Given the description of an element on the screen output the (x, y) to click on. 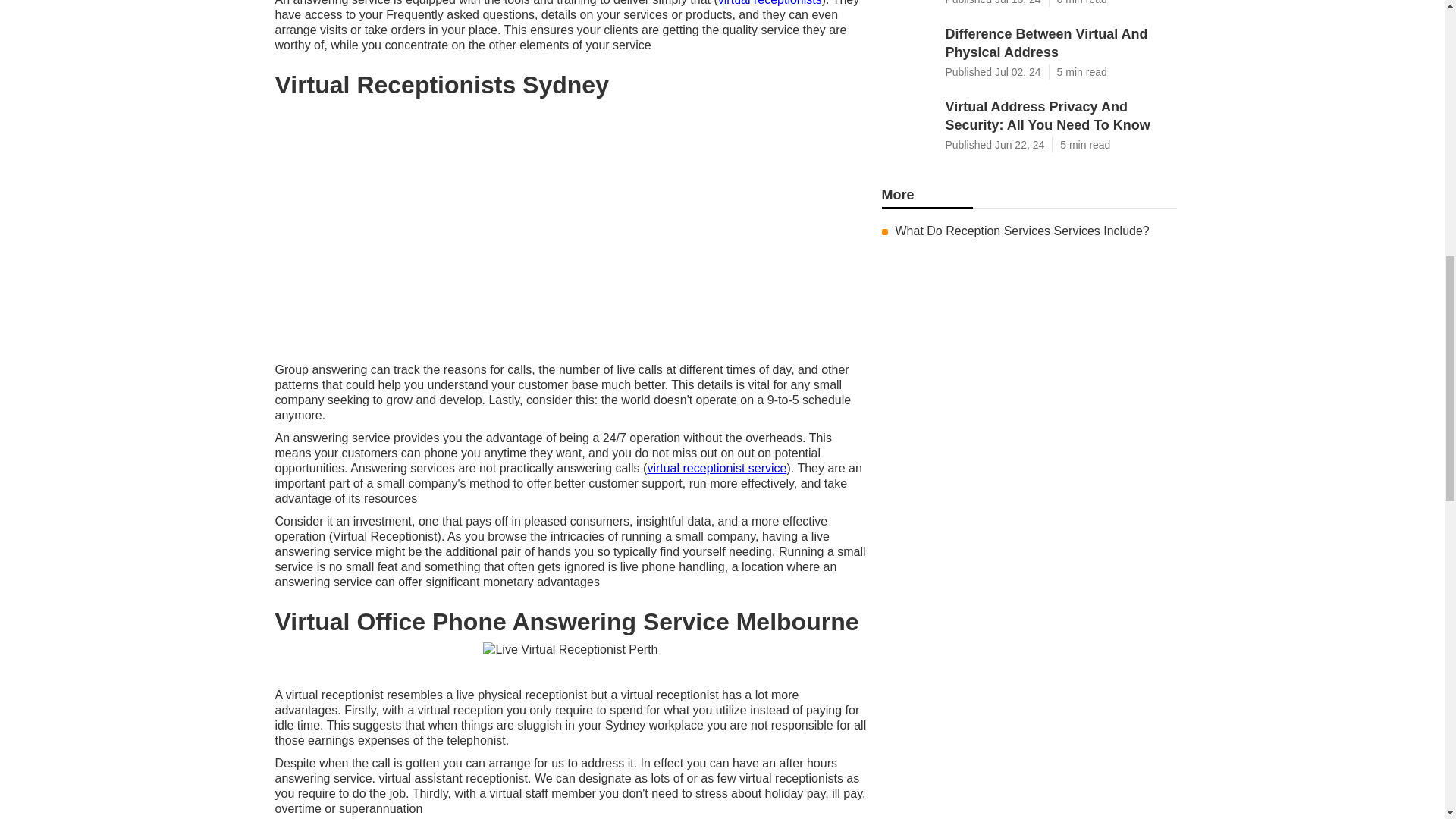
What Do Reception Services Services Include? (1021, 230)
virtual receptionists (769, 2)
virtual receptionist service (716, 468)
